Given the description of an element on the screen output the (x, y) to click on. 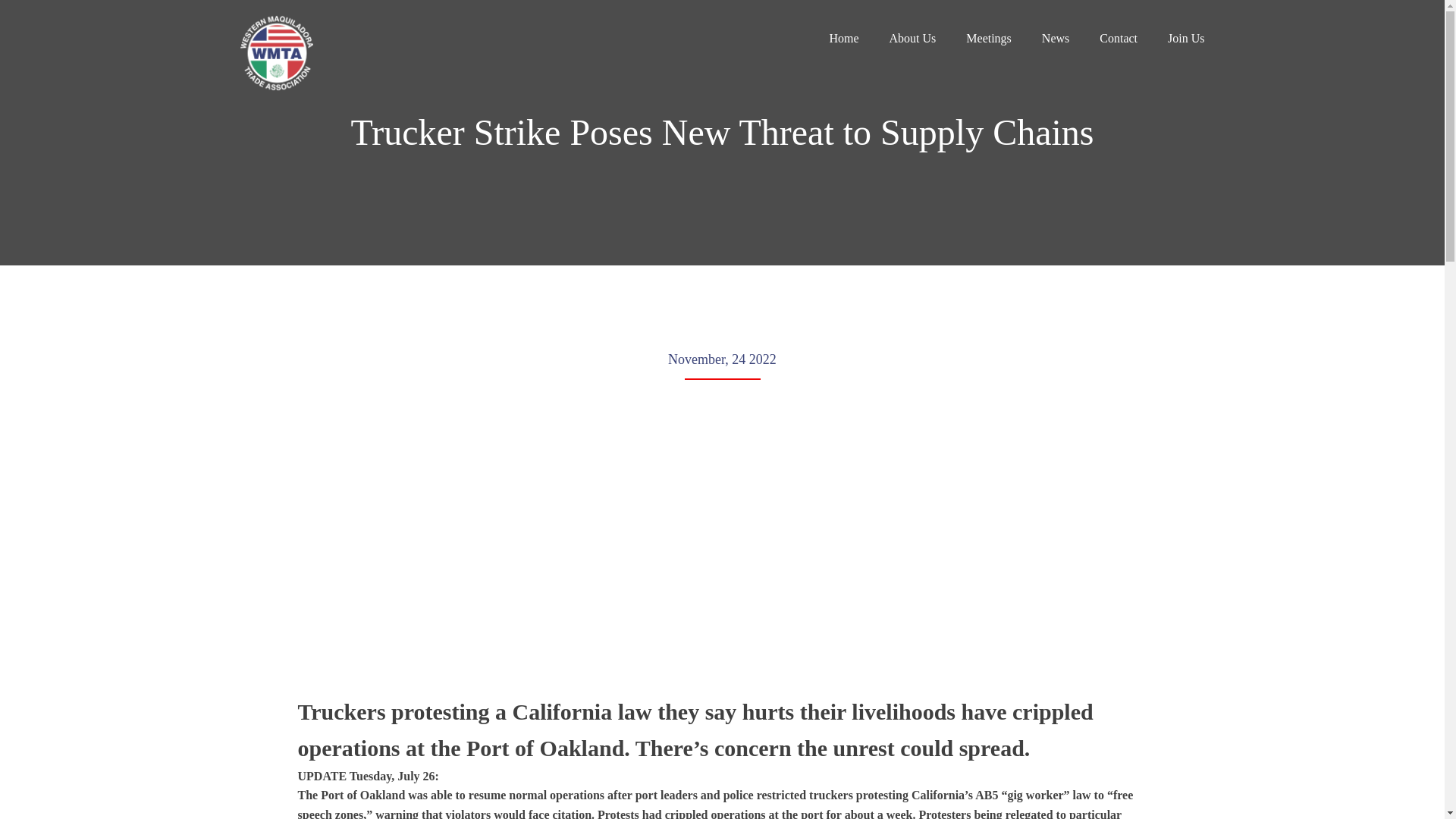
News (1055, 38)
Join Us (1185, 38)
Home (843, 38)
Meetings (988, 38)
Contact (1118, 38)
About Us (912, 38)
